Given the description of an element on the screen output the (x, y) to click on. 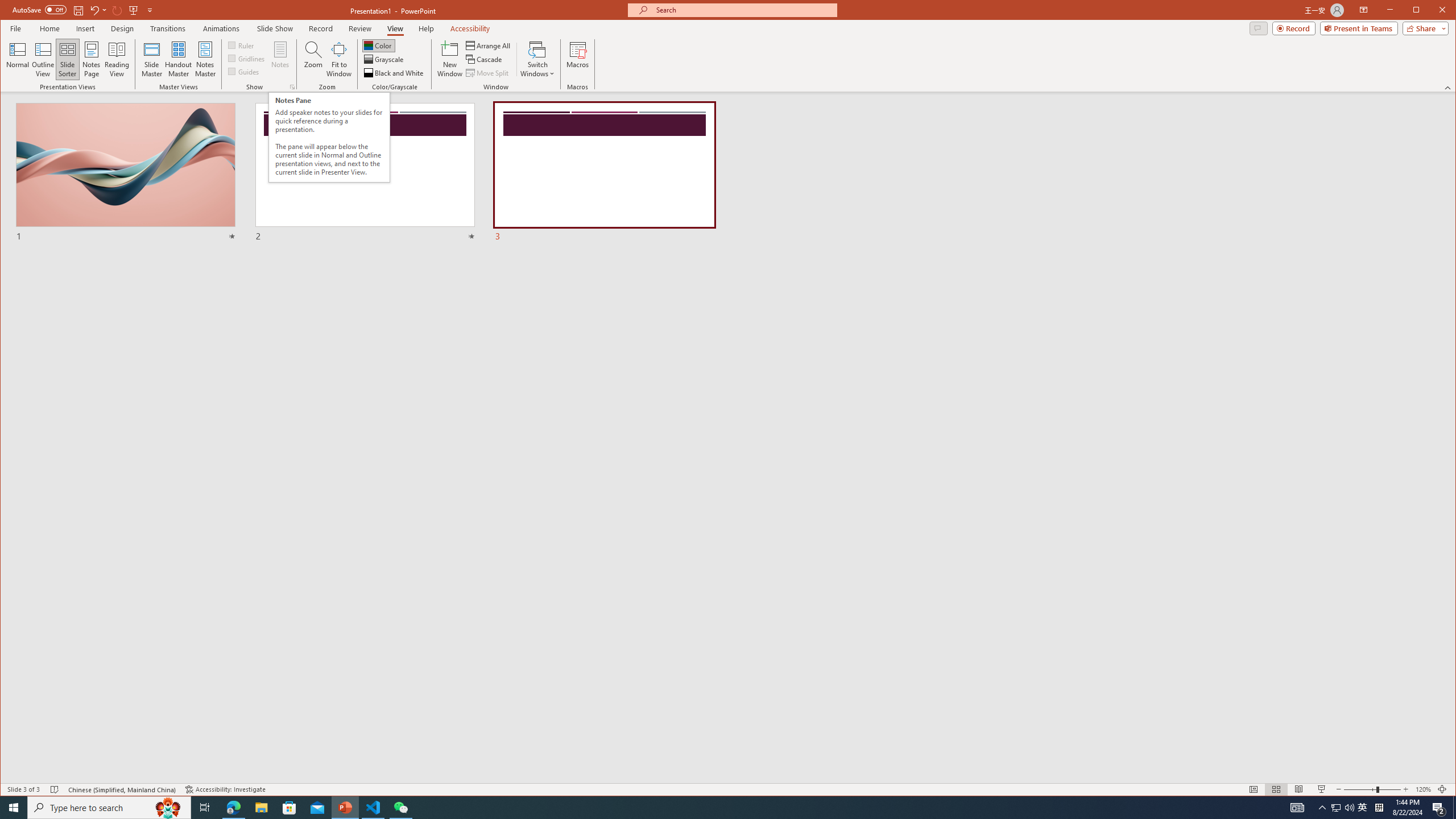
Switch Windows (537, 59)
Search highlights icon opens search home window (167, 807)
Arrange All (488, 45)
Task View (204, 807)
Outline View (42, 59)
